Given the description of an element on the screen output the (x, y) to click on. 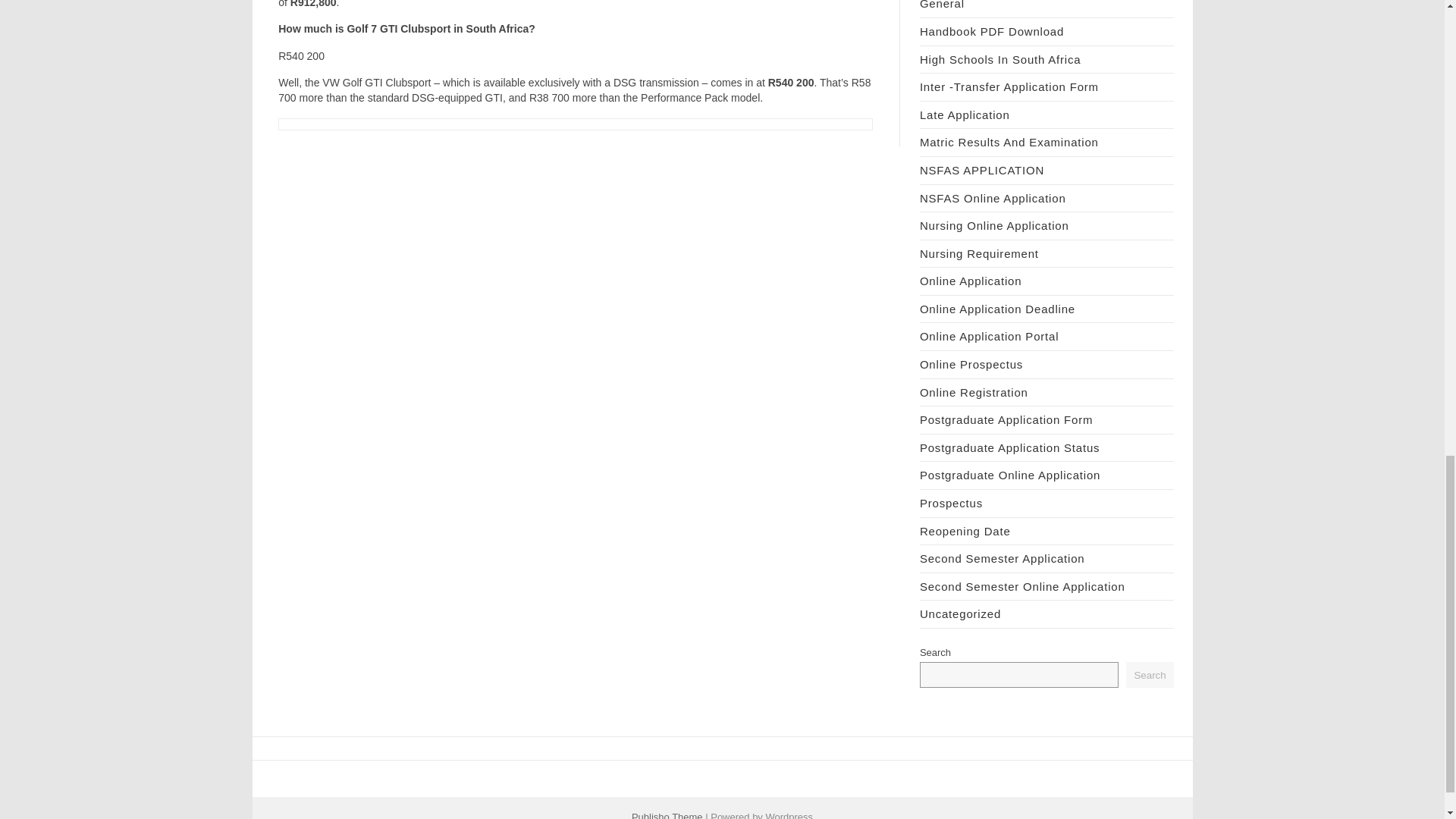
NSFAS APPLICATION (981, 169)
Nursing Requirement (979, 253)
Online Application (971, 280)
NSFAS Online Application (992, 197)
Online Prospectus (971, 364)
Handbook PDF Download (992, 31)
Inter -Transfer Application Form (1009, 86)
Matric Results And Examination (1009, 141)
High Schools In South Africa (1000, 59)
Late Application (965, 114)
